Given the description of an element on the screen output the (x, y) to click on. 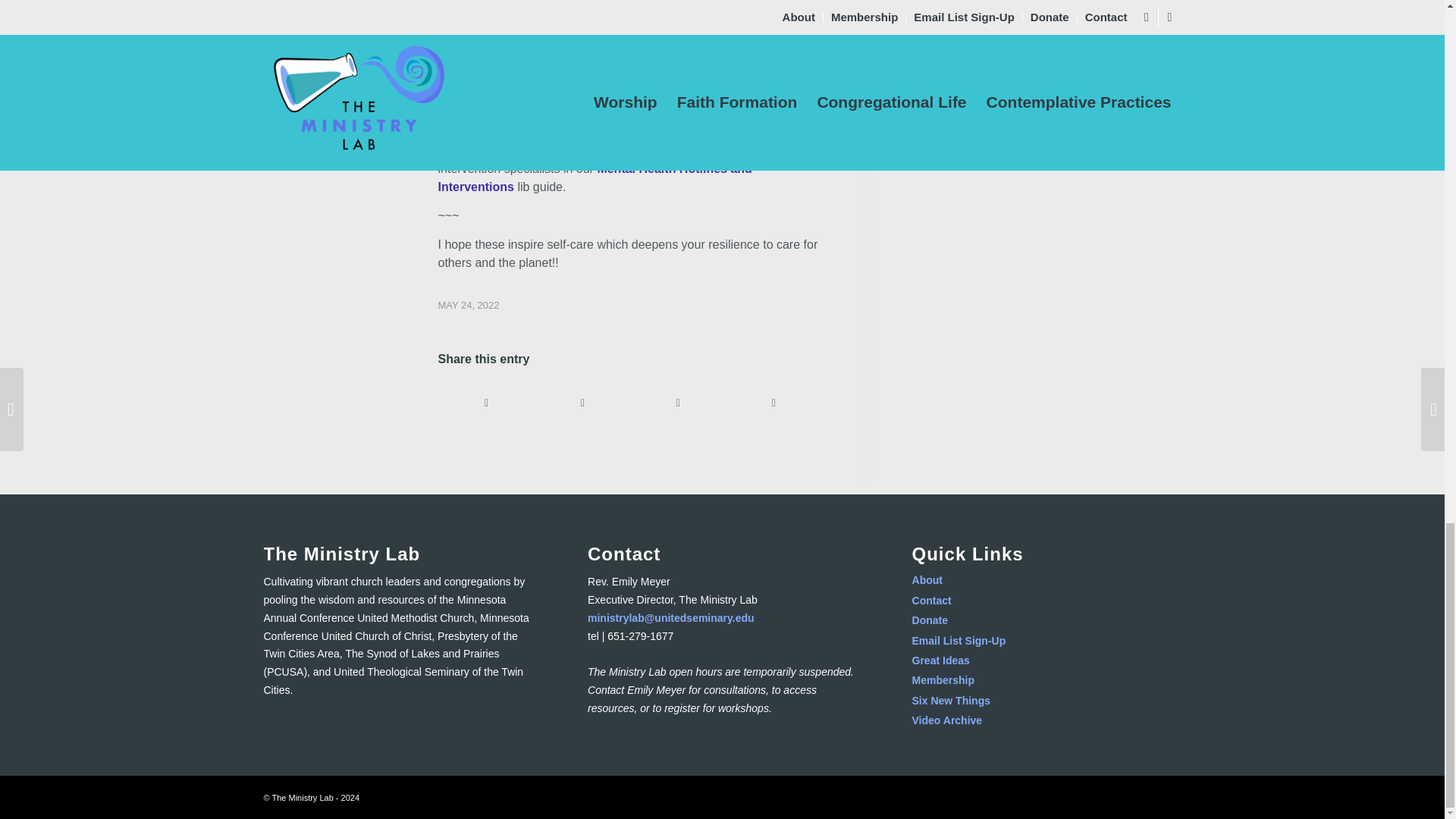
National Mental Health Awareness Month Webinar Series (617, 94)
Mental Health Hotlines and Interventions (595, 177)
A Quick Reference on Mental Health for Faith Leaders (624, 76)
